Given the description of an element on the screen output the (x, y) to click on. 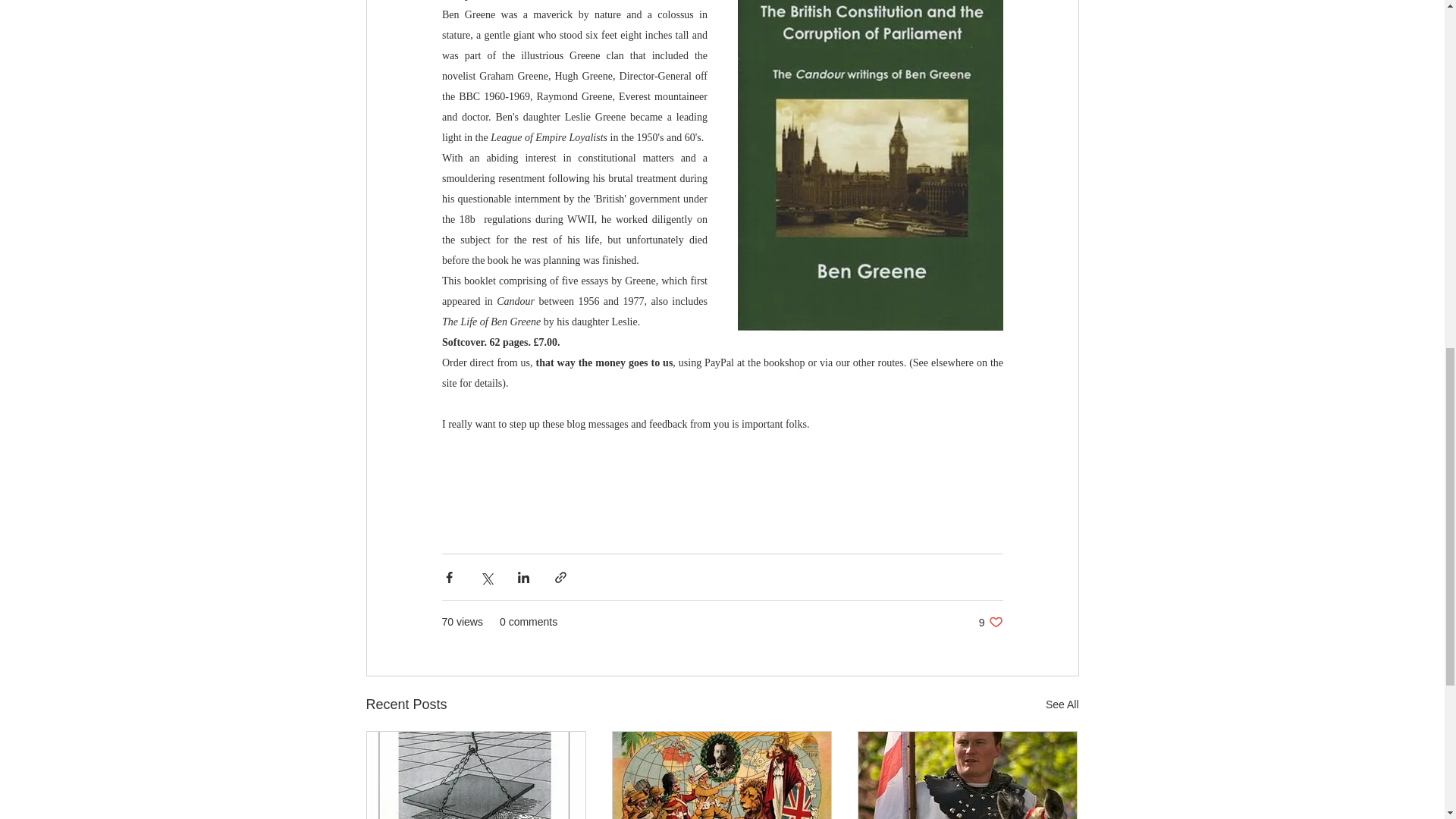
See All (990, 622)
